Given the description of an element on the screen output the (x, y) to click on. 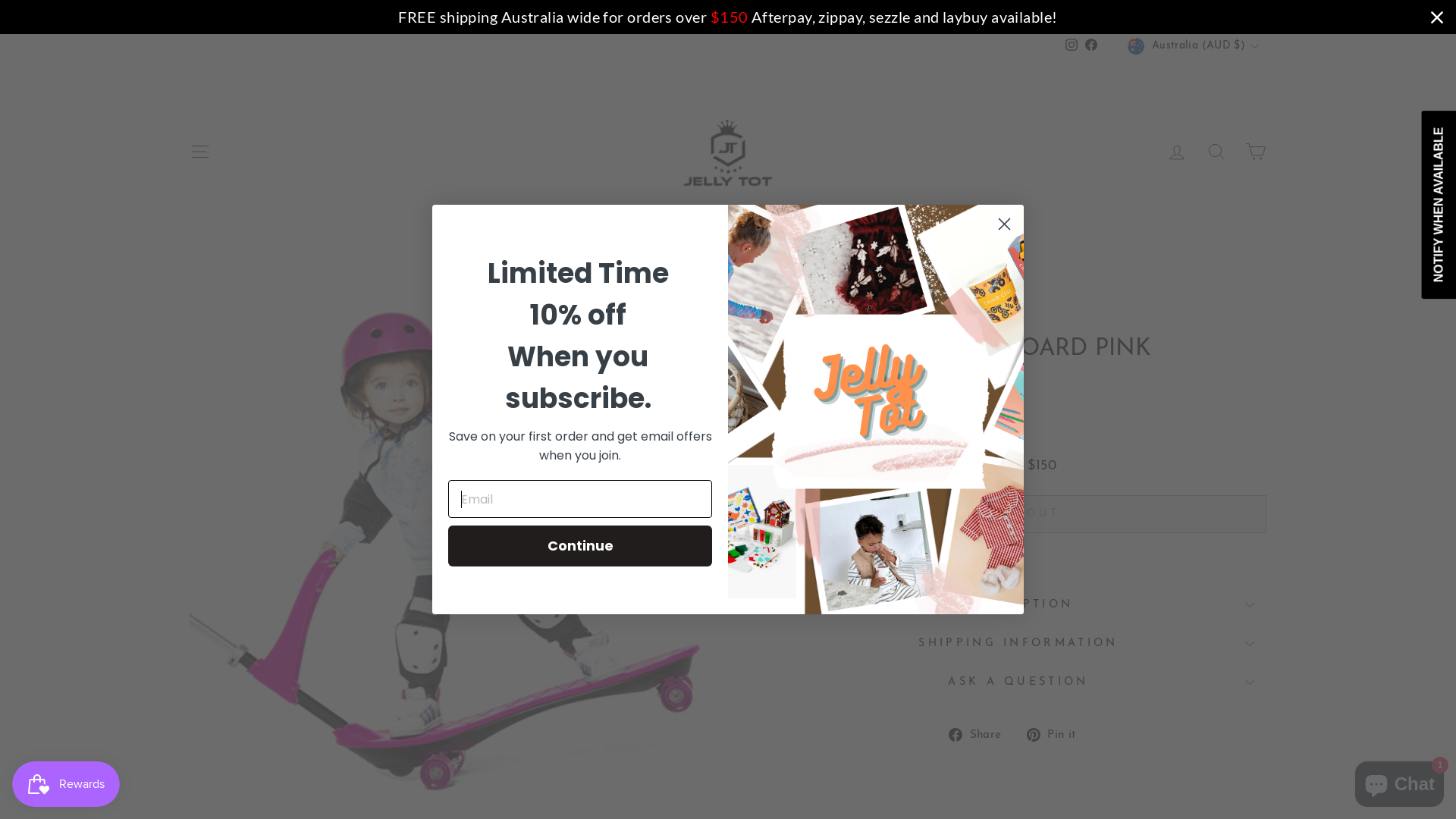
CART Element type: text (1255, 150)
Share
Share on Facebook Element type: text (980, 733)
Pin it
Pin on Pinterest Element type: text (1057, 733)
Home Element type: text (786, 301)
SHIPPING INFORMATION Element type: text (1018, 643)
NOTIFY WHEN AVAILABLE Element type: text (890, 549)
Facebook Element type: text (1091, 46)
icon-X
"Close (esc)" Element type: text (940, 329)
DESCRIPTION Element type: text (1018, 604)
instagram
Instagram Element type: text (1071, 46)
SOLD OUT Element type: text (1018, 514)
ASK A QUESTION Element type: text (1018, 682)
SUBSCRIBE Element type: text (820, 456)
ACCOUNT
LOG IN Element type: text (1176, 150)
ICON-HAMBURGER
SITE NAVIGATION Element type: text (199, 150)
ICON-SEARCH
SEARCH Element type: text (1216, 150)
Australia (AUD $) Element type: text (1194, 46)
Smile.io Rewards Program Launcher Element type: hover (65, 783)
OOKKIE Element type: text (801, 324)
Shopify online store chat Element type: hover (1399, 780)
